Given the description of an element on the screen output the (x, y) to click on. 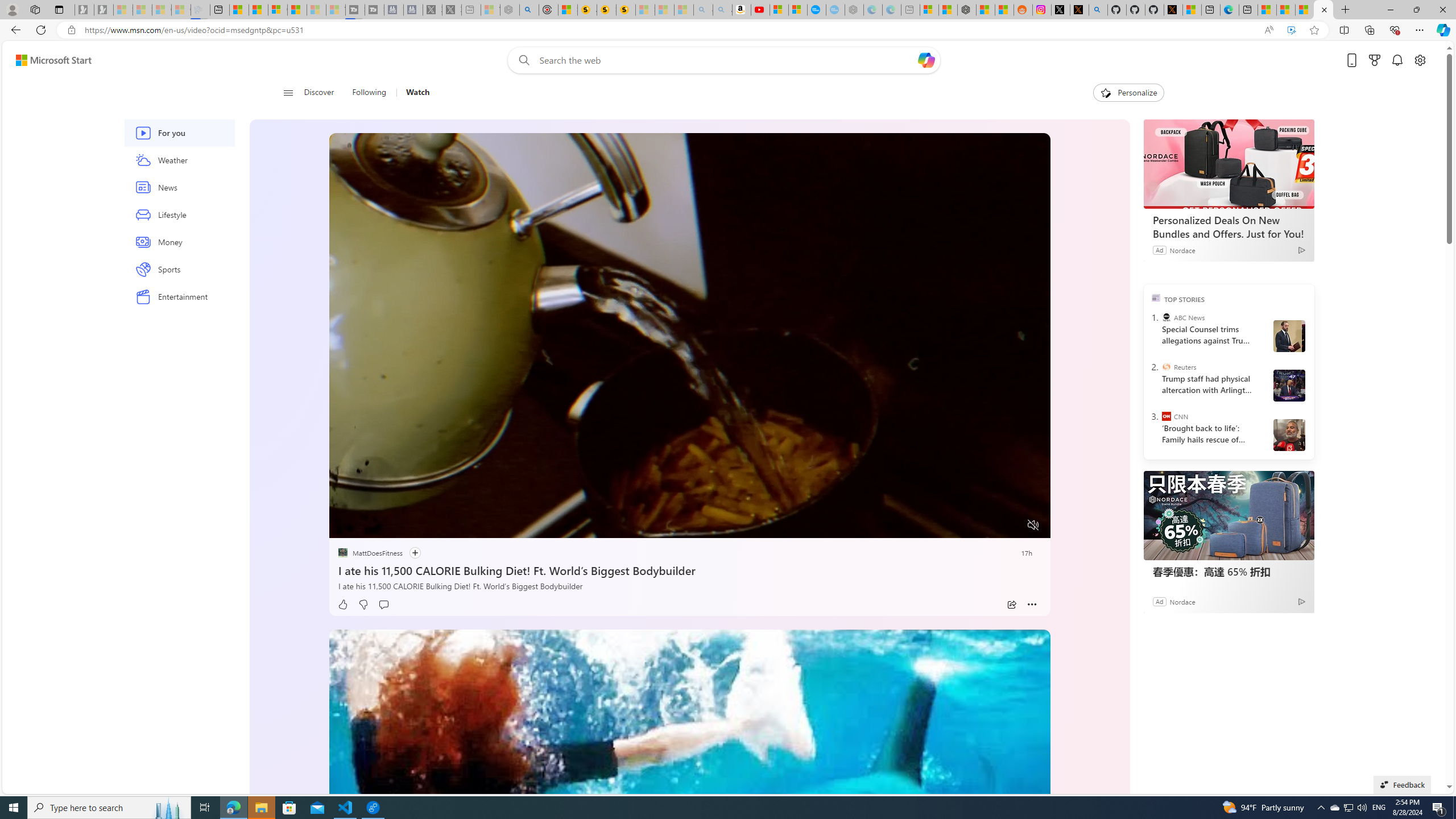
Amazon Echo Dot PNG - Search Images - Sleeping (721, 9)
Nordace - Summer Adventures 2024 - Sleeping (509, 9)
Share (1010, 604)
